Given the description of an element on the screen output the (x, y) to click on. 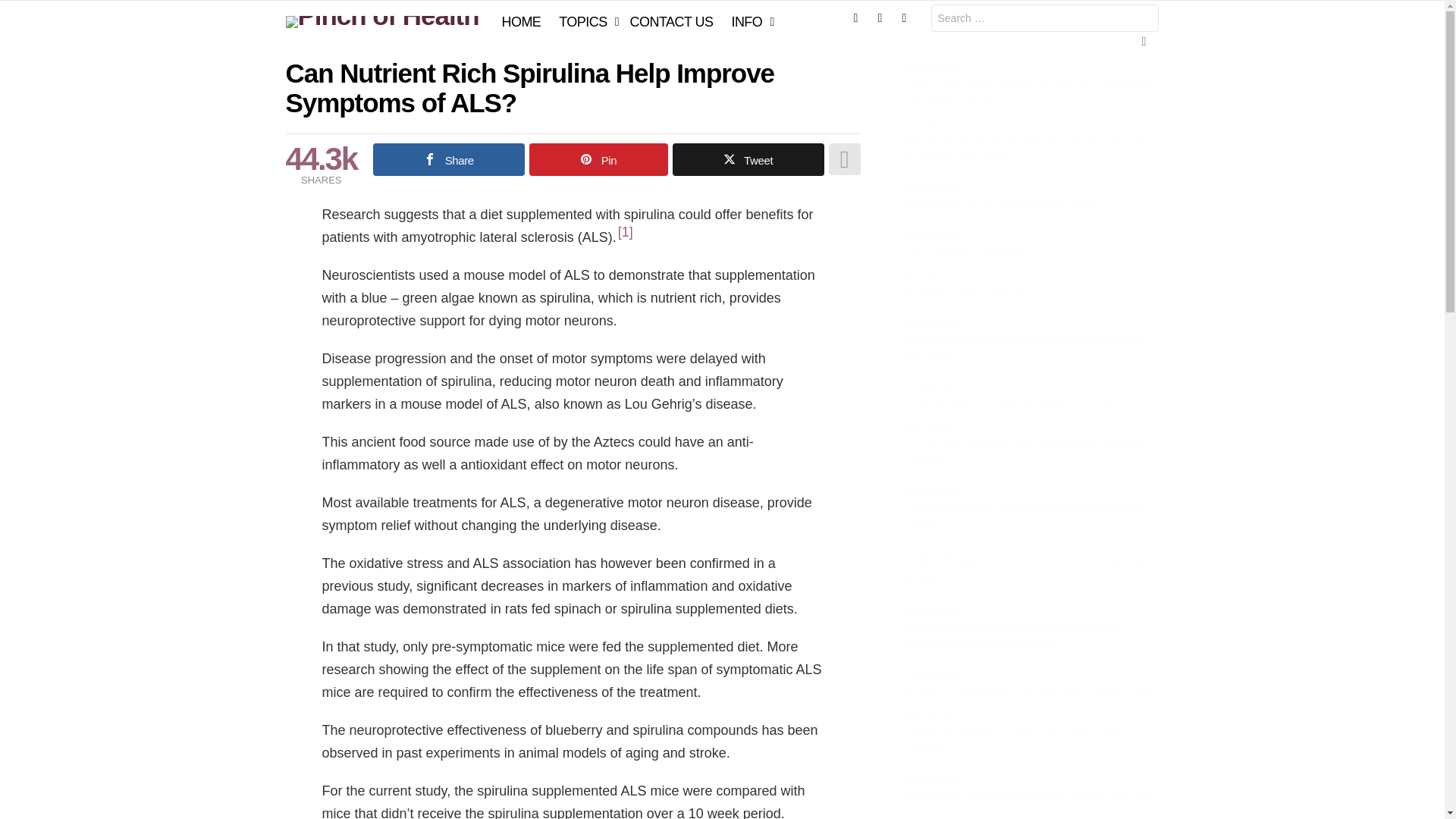
Twitter (879, 17)
TOPICS (584, 21)
CONTACT US (671, 21)
Pinterest (903, 17)
INFO (748, 21)
Search for: (1044, 17)
Facebook (855, 17)
HOME (521, 21)
